Given the description of an element on the screen output the (x, y) to click on. 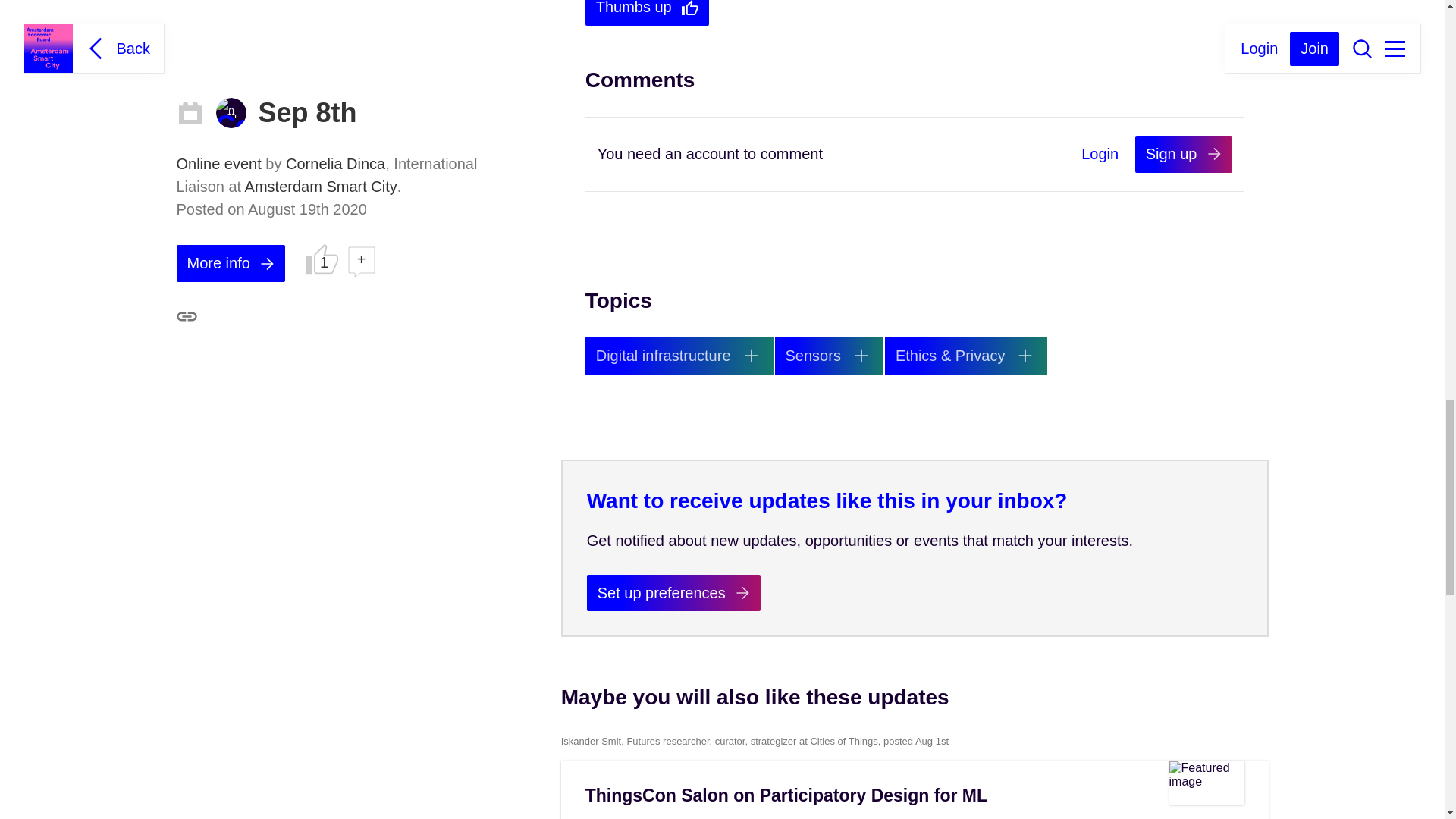
View updates (828, 355)
Set up preferences (673, 592)
View updates (679, 355)
Follow (1024, 355)
Follow (861, 355)
Sign up (1183, 153)
View updates (965, 355)
Login (1099, 154)
Follow (751, 355)
Set up preferences (673, 592)
Thumbs up (647, 12)
Sign up (1183, 153)
Digital infrastructure (679, 355)
Sensors (828, 355)
Login (1099, 154)
